Given the description of an element on the screen output the (x, y) to click on. 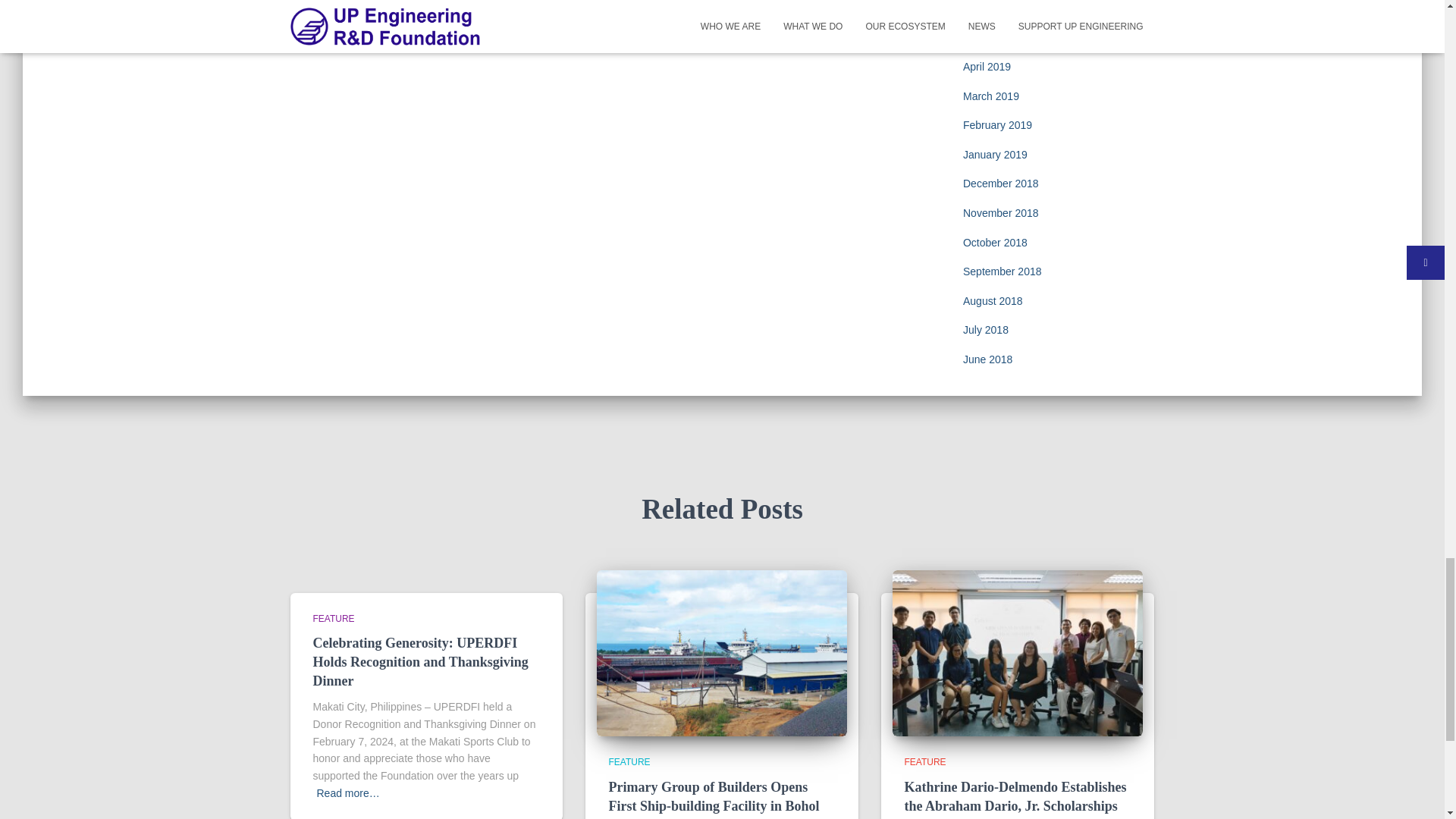
View all posts in Feature (333, 617)
View all posts in Feature (924, 761)
View all posts in Feature (628, 761)
